Given the description of an element on the screen output the (x, y) to click on. 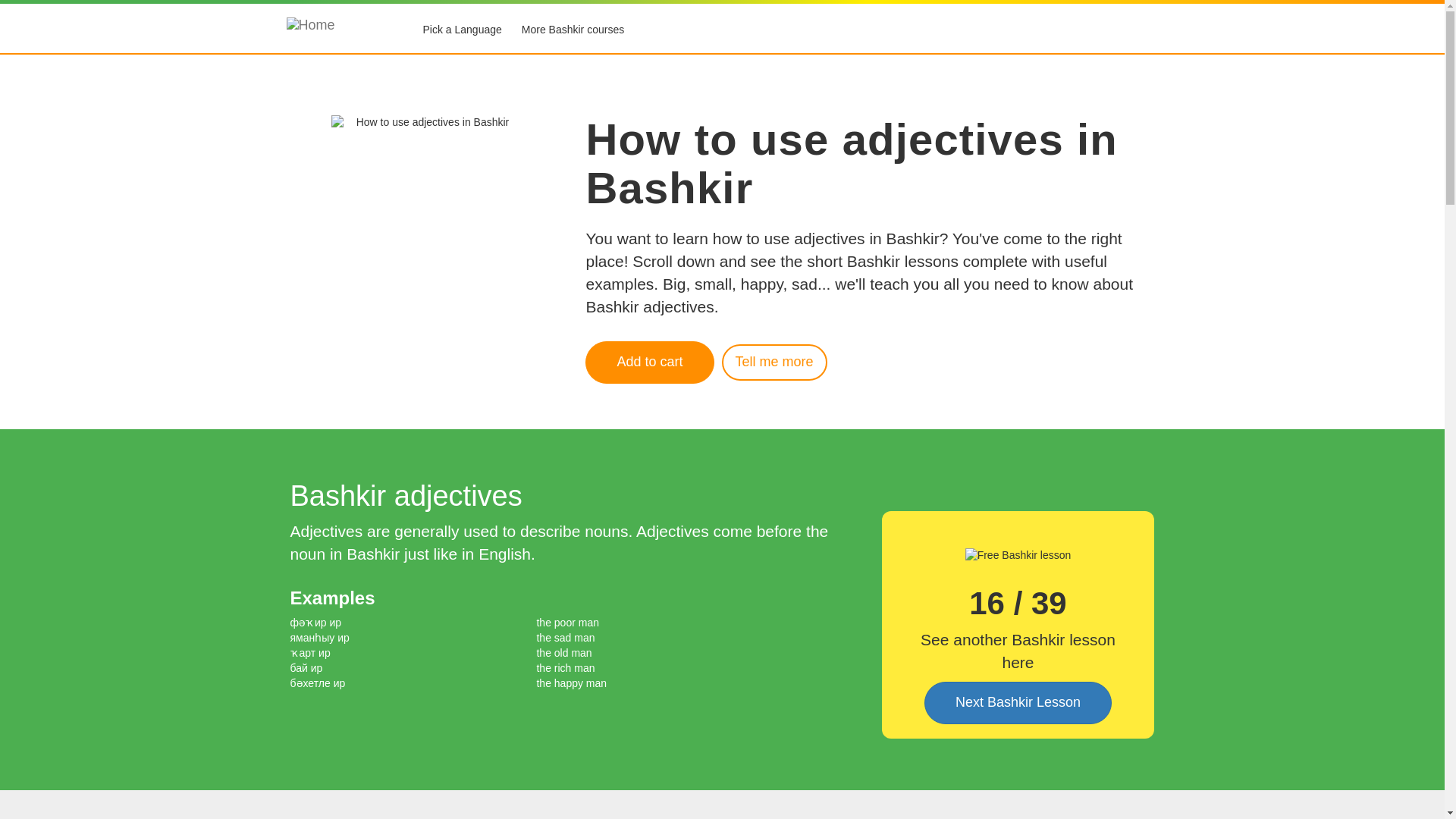
Pick a Language (461, 30)
Free Bashkir lesson (1018, 555)
Home (336, 30)
Bashkir courses (572, 30)
Next Bashkir Lesson (1018, 702)
Tell me more (774, 361)
 - How to use adjectives in Bashkir (649, 362)
Add to cart (649, 362)
More Bashkir courses (572, 30)
 - How to use adjectives in Bashkir (774, 361)
